Given the description of an element on the screen output the (x, y) to click on. 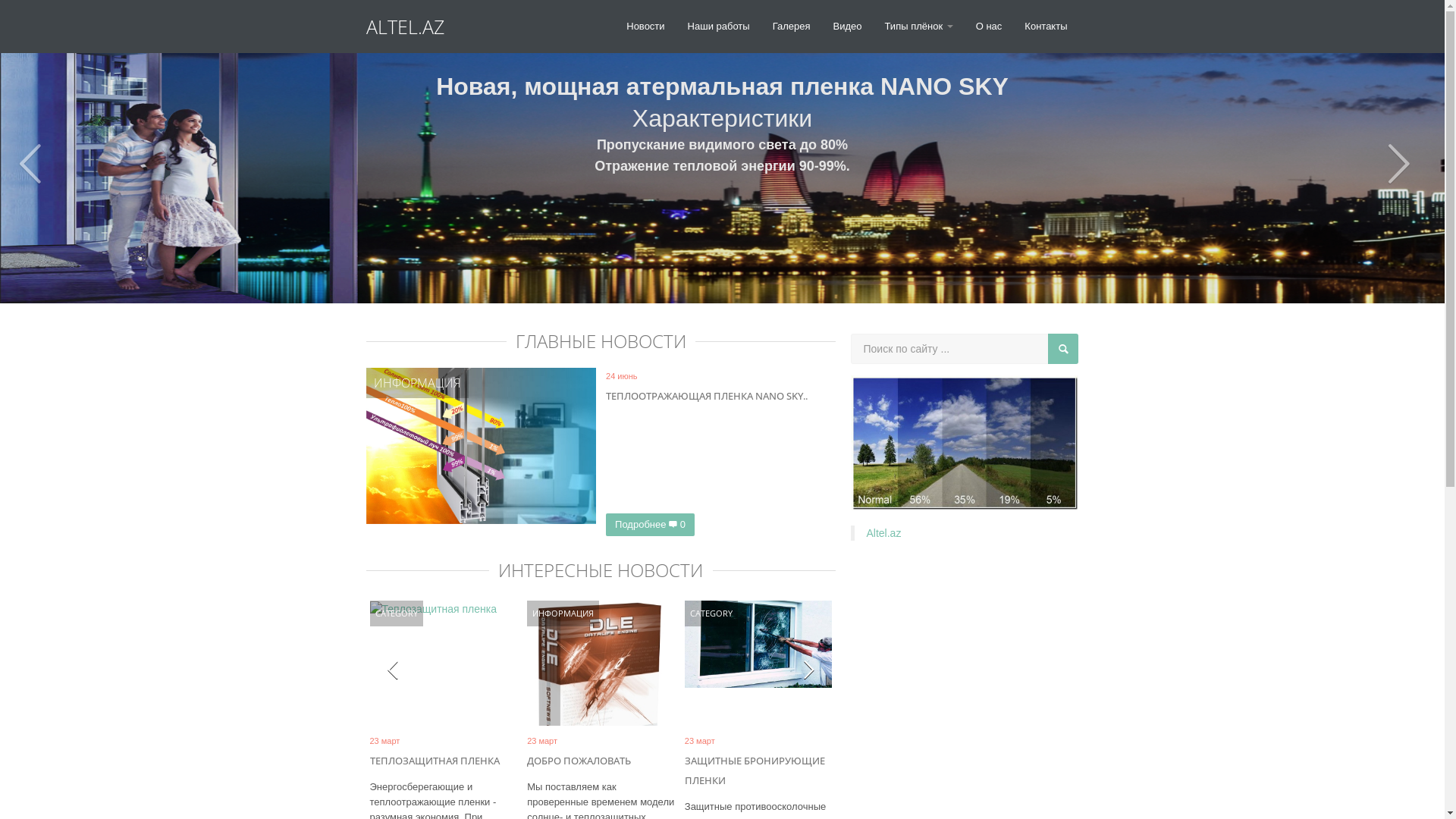
Altel.az Element type: text (883, 533)
ALTEL.AZ Element type: text (415, 20)
CATEGORY Element type: text (395, 612)
CATEGORY Element type: text (711, 612)
